Given the description of an element on the screen output the (x, y) to click on. 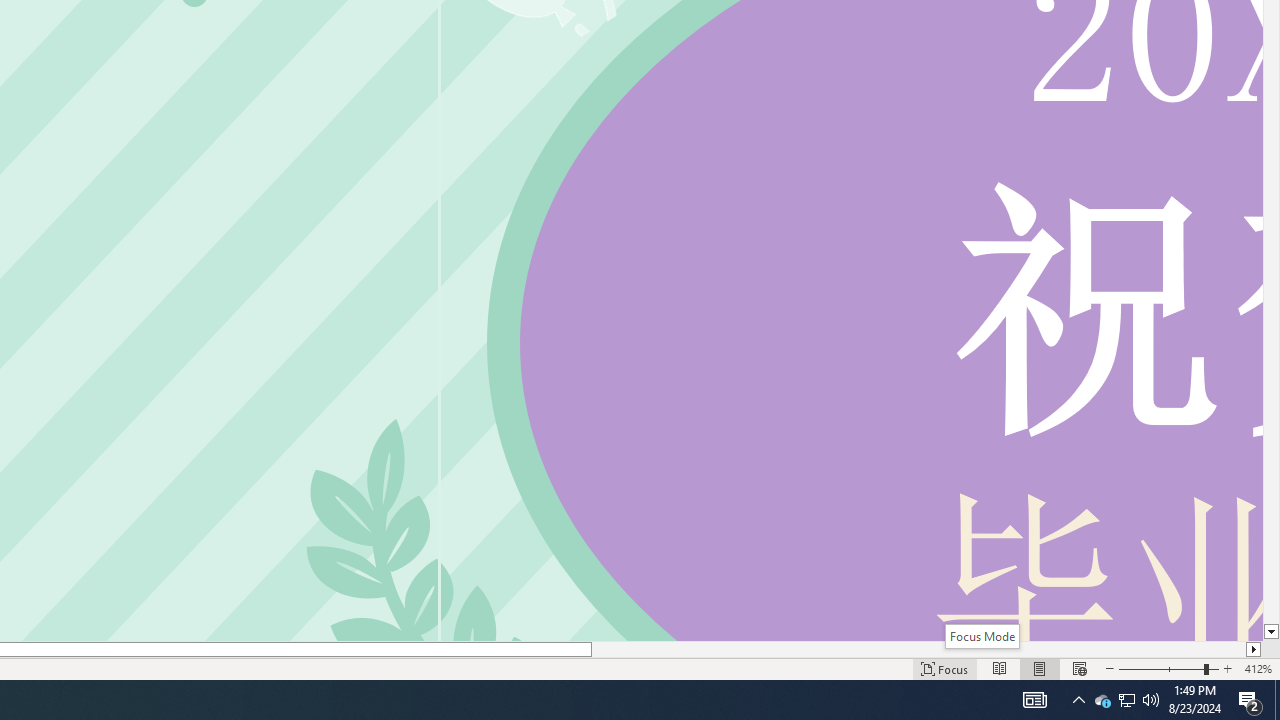
Focus Mode (982, 636)
Column right (1254, 649)
Line down (1271, 632)
Page right (918, 649)
